Given the description of an element on the screen output the (x, y) to click on. 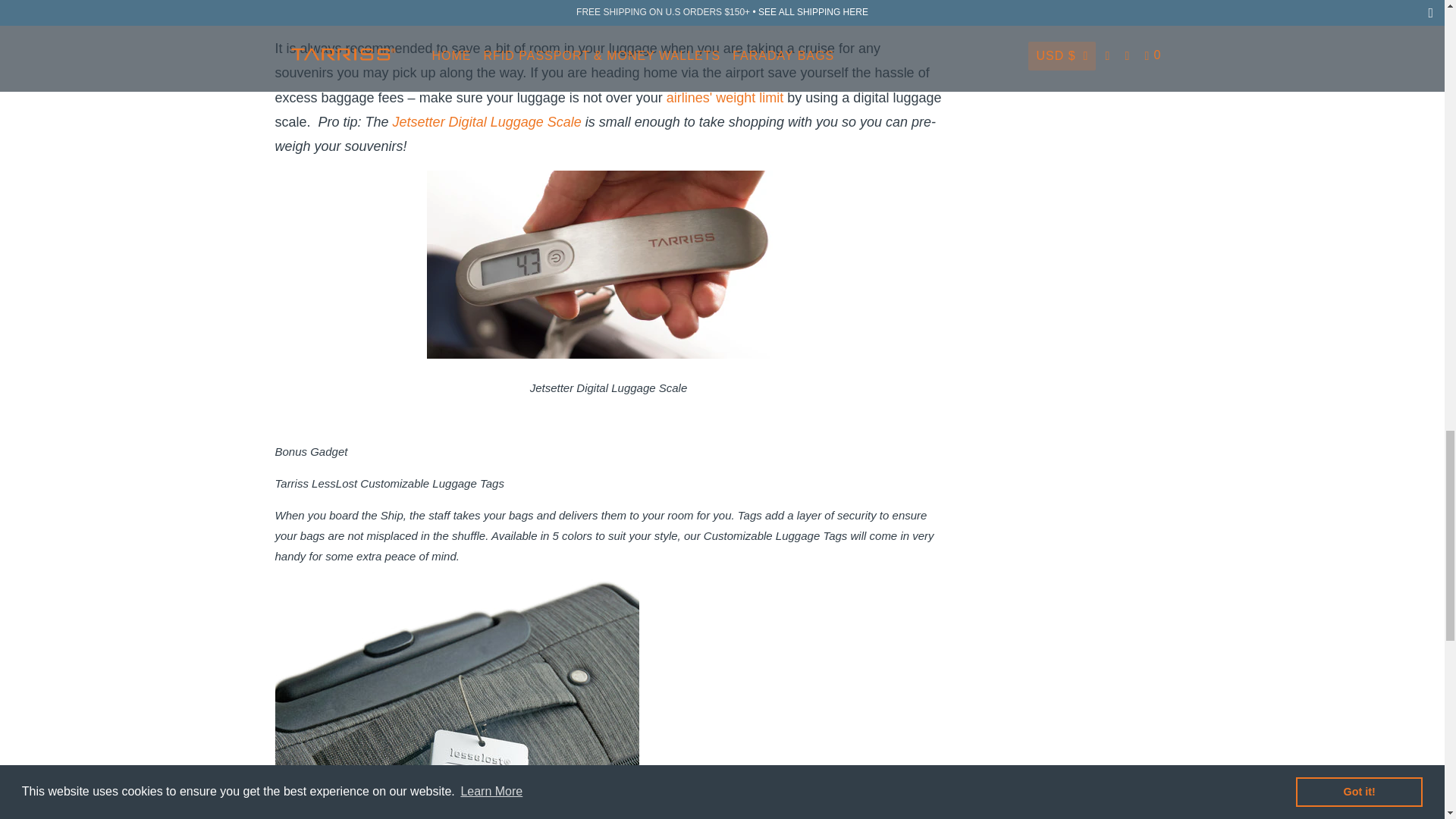
Top Airlines Baggage Fees (725, 97)
Jetsetter Digital Luggage Scale (486, 121)
Jetsetter Digital Luggage Scale (335, 9)
